Given the description of an element on the screen output the (x, y) to click on. 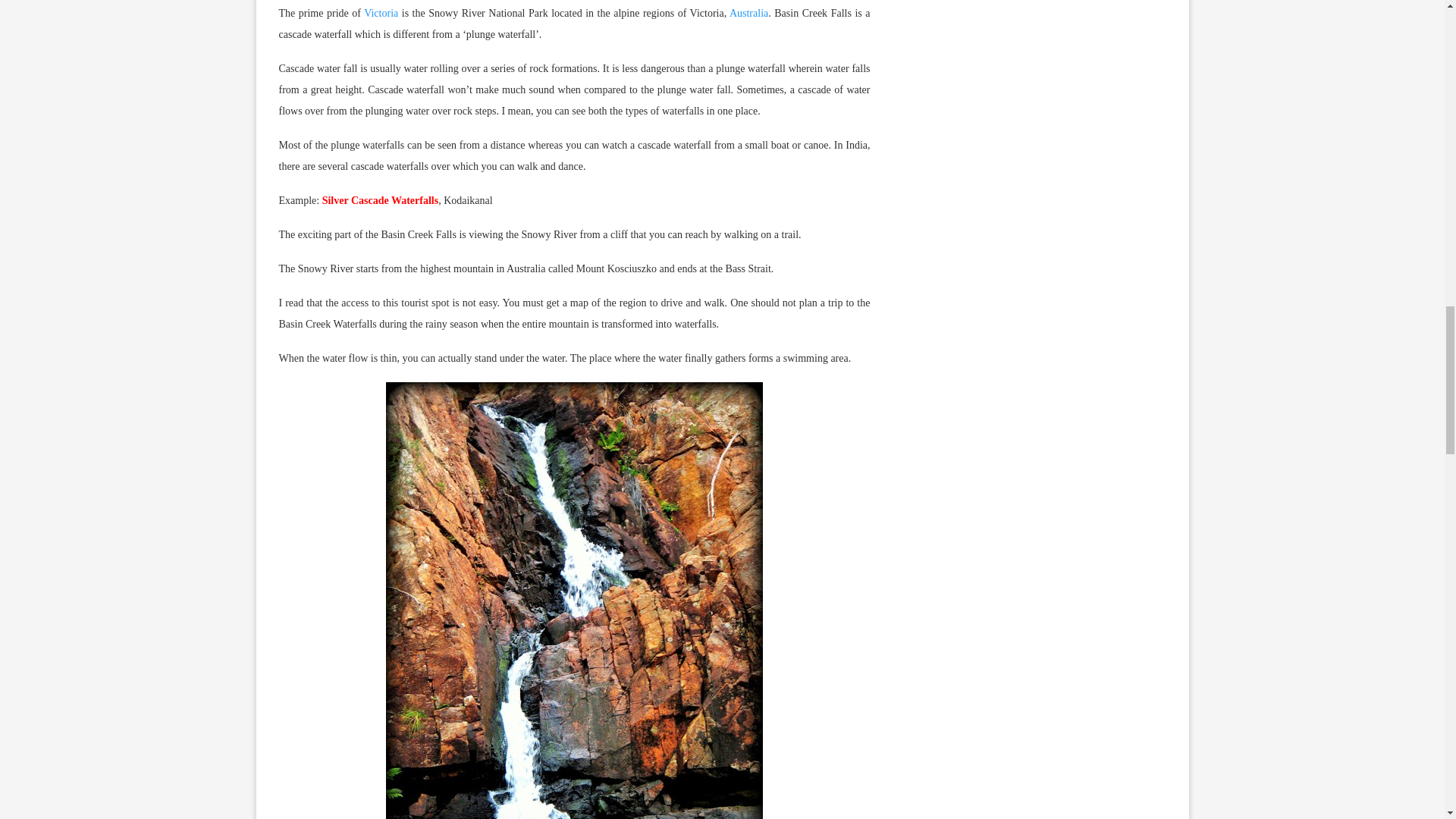
Australia (748, 12)
Victoria (380, 12)
